Given the description of an element on the screen output the (x, y) to click on. 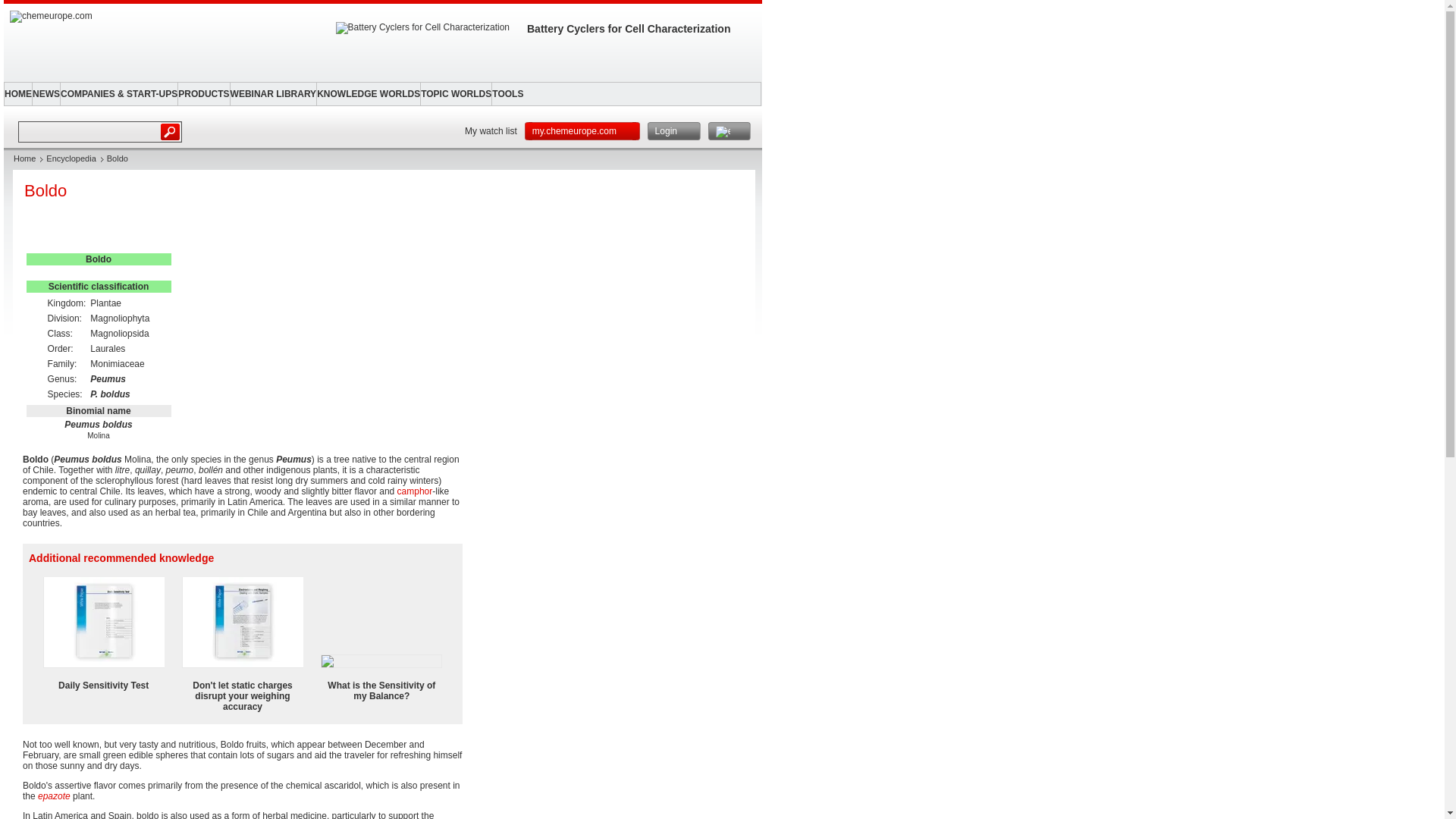
search (88, 131)
What is the Sensitivity of my Balance? (381, 690)
go (171, 131)
Encyclopedia (71, 157)
camphor (414, 491)
Camphor (414, 491)
epazote (53, 796)
go (171, 131)
Epazote (53, 796)
my.chemeurope.com   (582, 131)
Login   (673, 131)
Daily Sensitivity Test (103, 685)
My watch list (487, 131)
Home (23, 157)
